Given the description of an element on the screen output the (x, y) to click on. 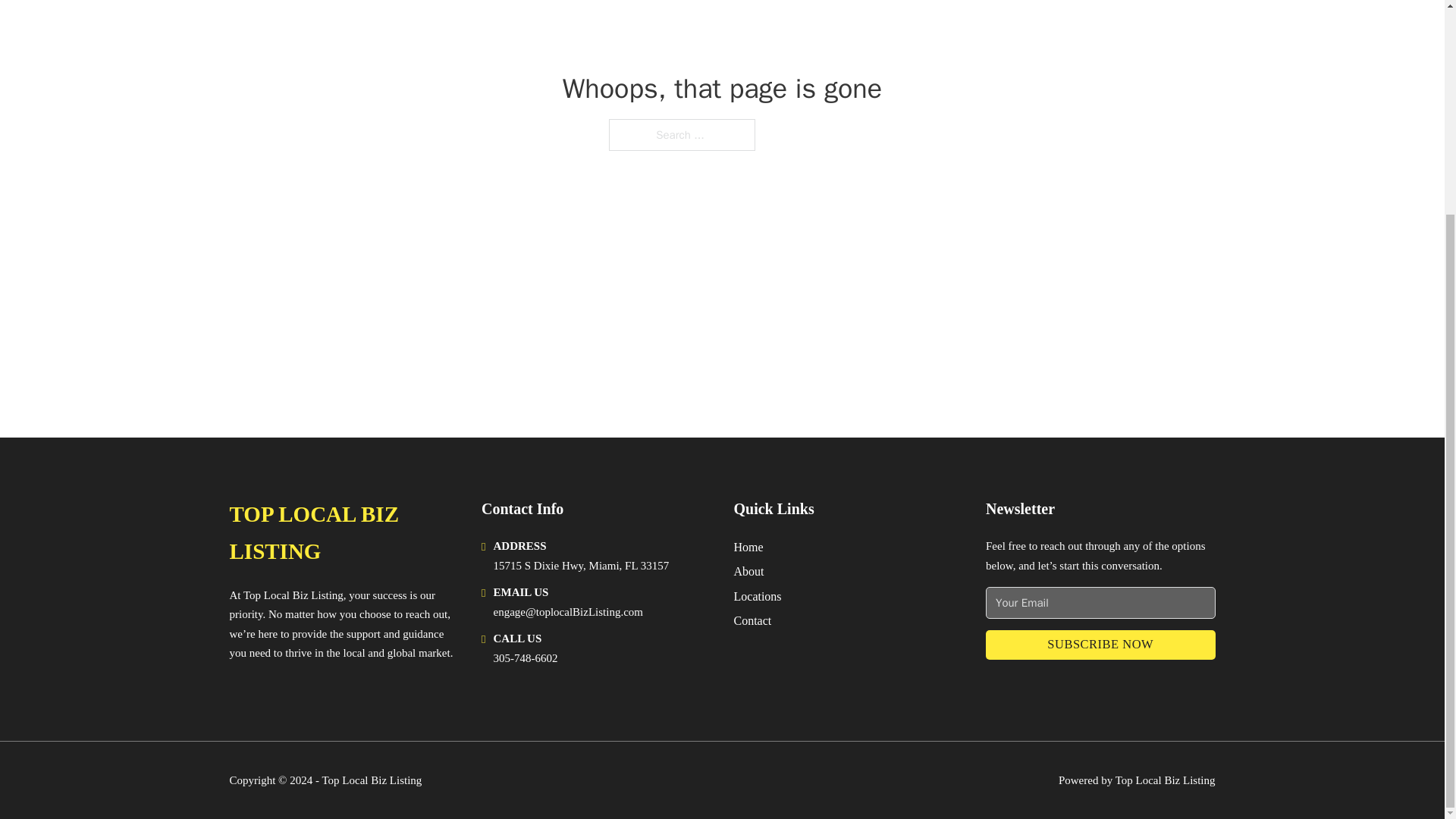
305-748-6602 (525, 657)
SUBSCRIBE NOW (1100, 644)
TOP LOCAL BIZ LISTING (343, 533)
Locations (757, 596)
About (748, 571)
Home (747, 547)
Contact (752, 620)
